Given the description of an element on the screen output the (x, y) to click on. 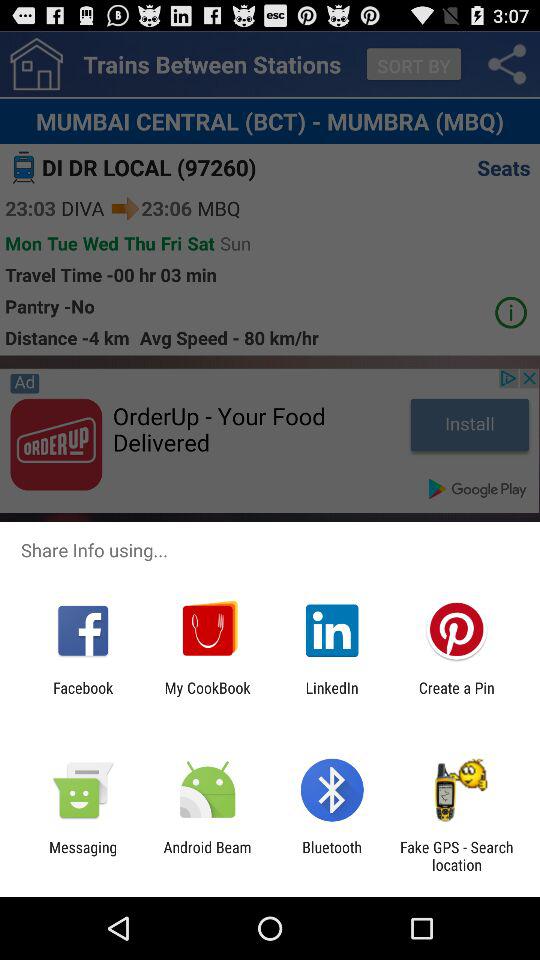
scroll until android beam (207, 856)
